Given the description of an element on the screen output the (x, y) to click on. 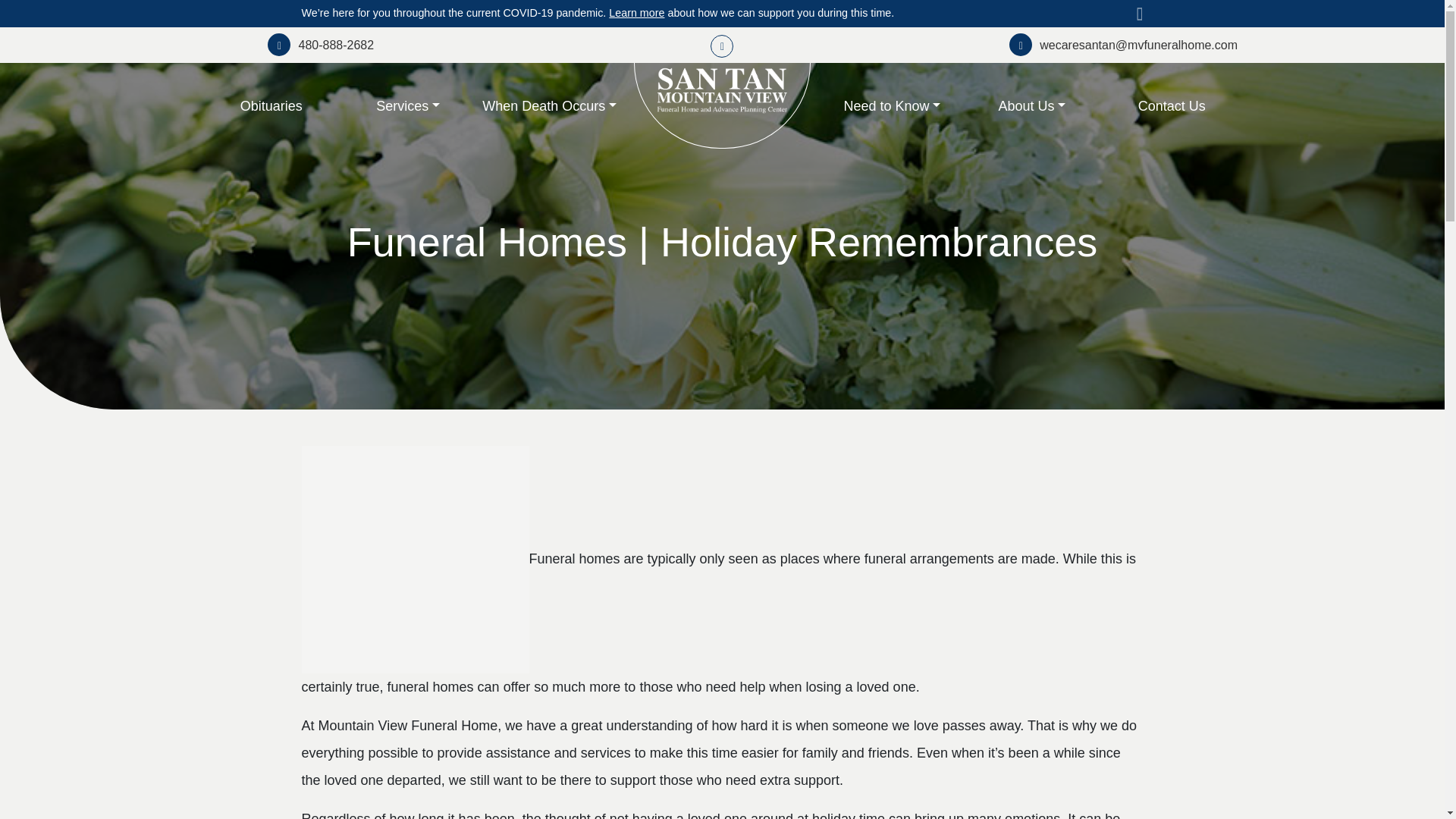
Mountain View Funeral Home Social Media (721, 45)
Need to Know (891, 105)
When Death Occurs (549, 105)
Learn more (635, 12)
Contact Us (1171, 105)
Email Us (1123, 44)
Call Us (320, 44)
About Us (1032, 105)
Obituaries (271, 105)
COVID-19 (635, 12)
